Given the description of an element on the screen output the (x, y) to click on. 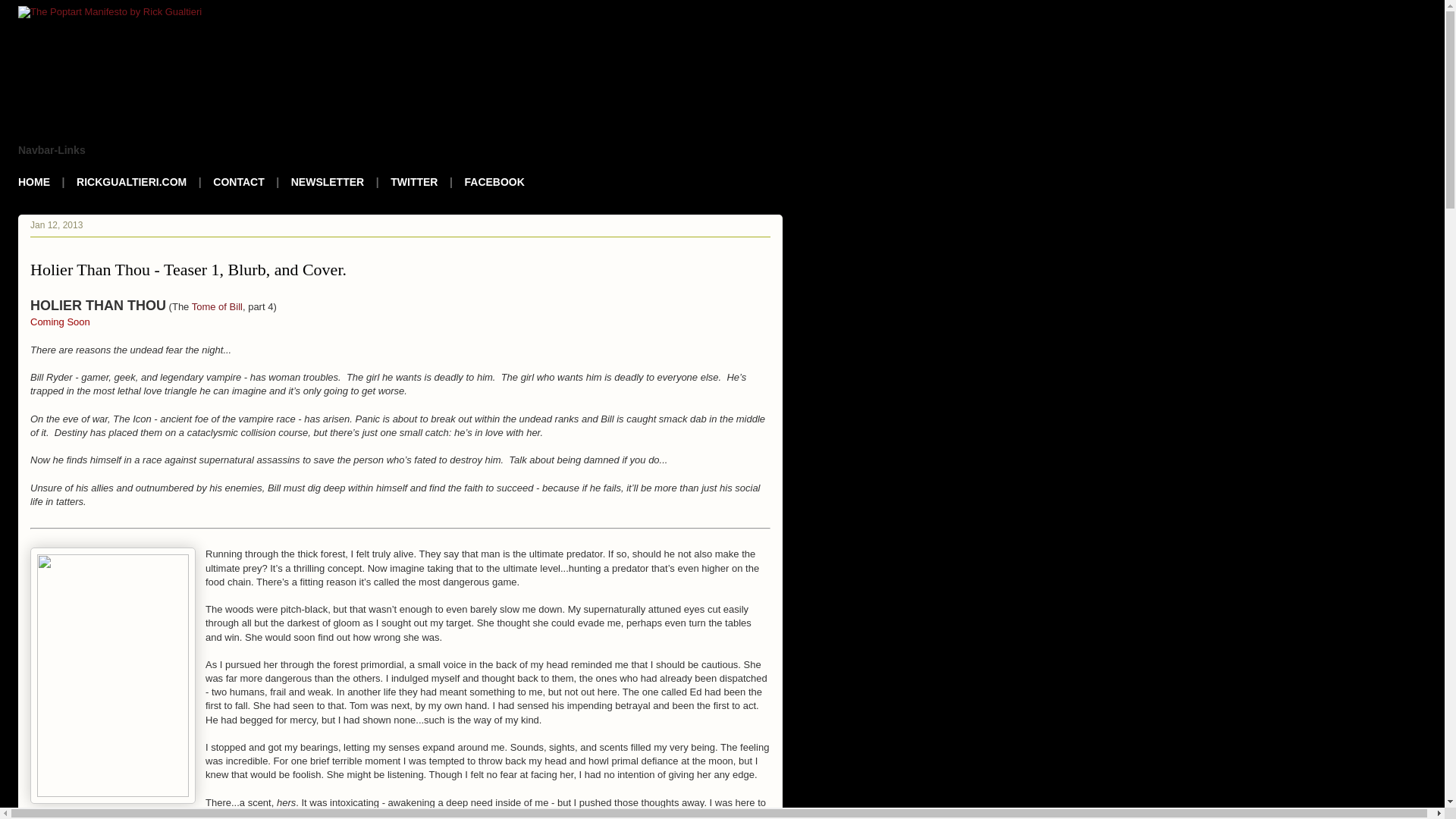
RICKGUALTIERI.COM (131, 182)
Holier Than Thou - Teaser 1, Blurb, and Cover. (188, 269)
CONTACT (237, 182)
HOME (33, 182)
TWITTER (414, 182)
Tome of Bill (217, 306)
NEWSLETTER (327, 182)
FACEBOOK (494, 182)
